Given the description of an element on the screen output the (x, y) to click on. 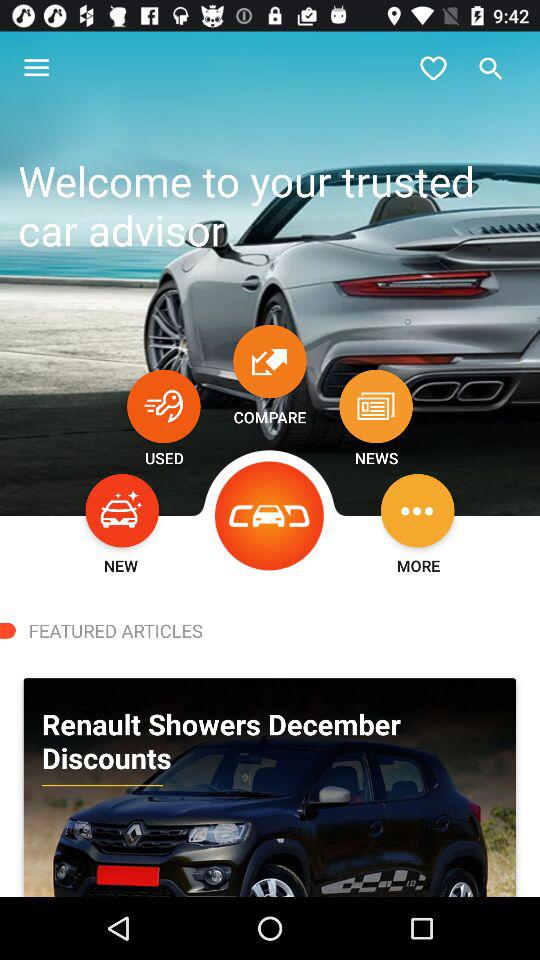
used car option (163, 406)
